Given the description of an element on the screen output the (x, y) to click on. 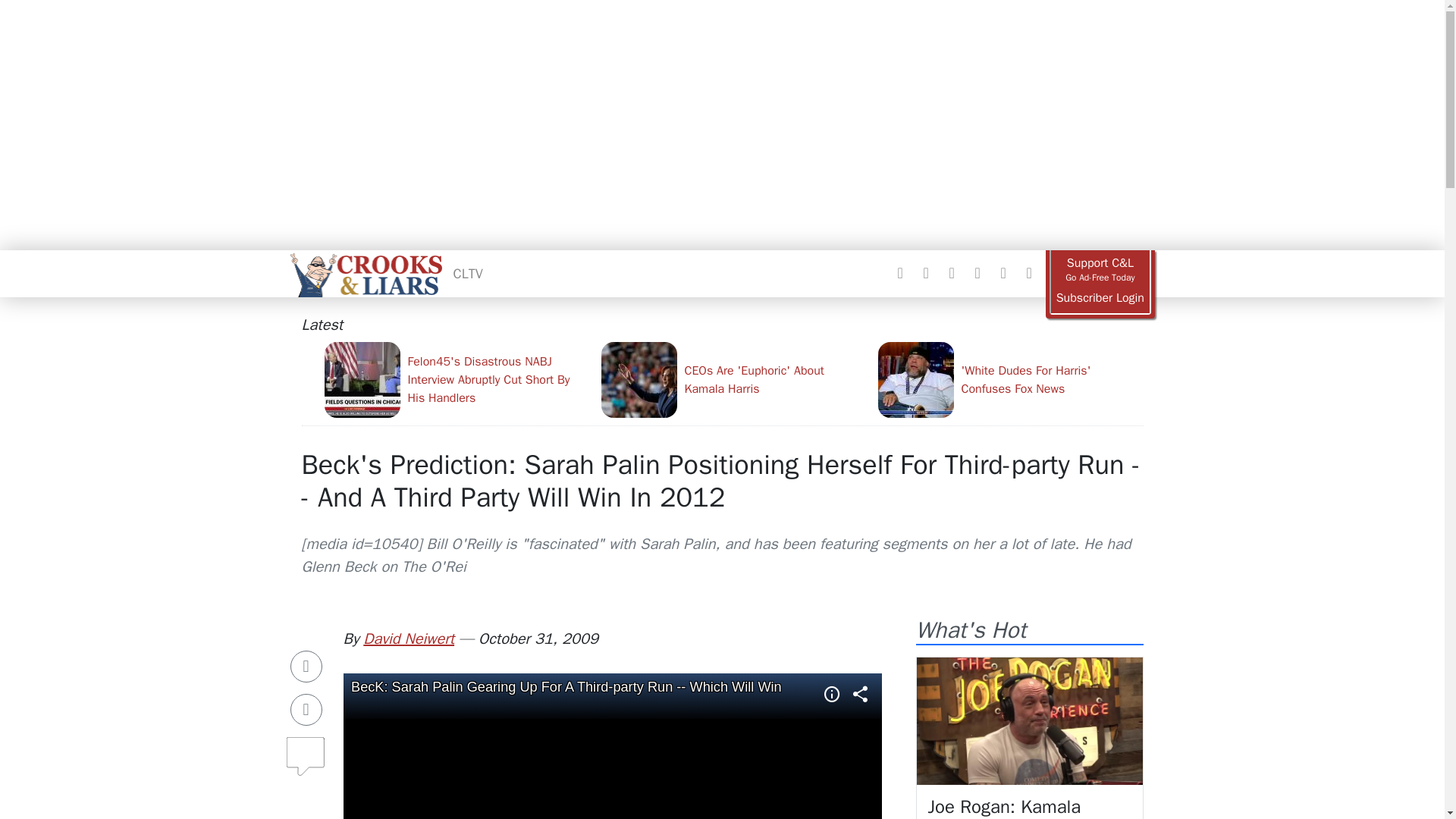
CLTV (467, 273)
CEOs Are 'Euphoric' About Kamala Harris (732, 379)
Login to your ad free account (1099, 298)
Subscriber Login (1099, 298)
Share on Twitter (306, 709)
CEOs Are 'Euphoric' About Kamala Harris  (732, 379)
Comments (306, 750)
'White Dudes For Harris' Confuses Fox News (1009, 379)
Go ad free today! (1099, 270)
'White Dudes For Harris' Confuses Fox News (1009, 379)
Share on Facebook (306, 666)
David Neiwert (408, 638)
